Given the description of an element on the screen output the (x, y) to click on. 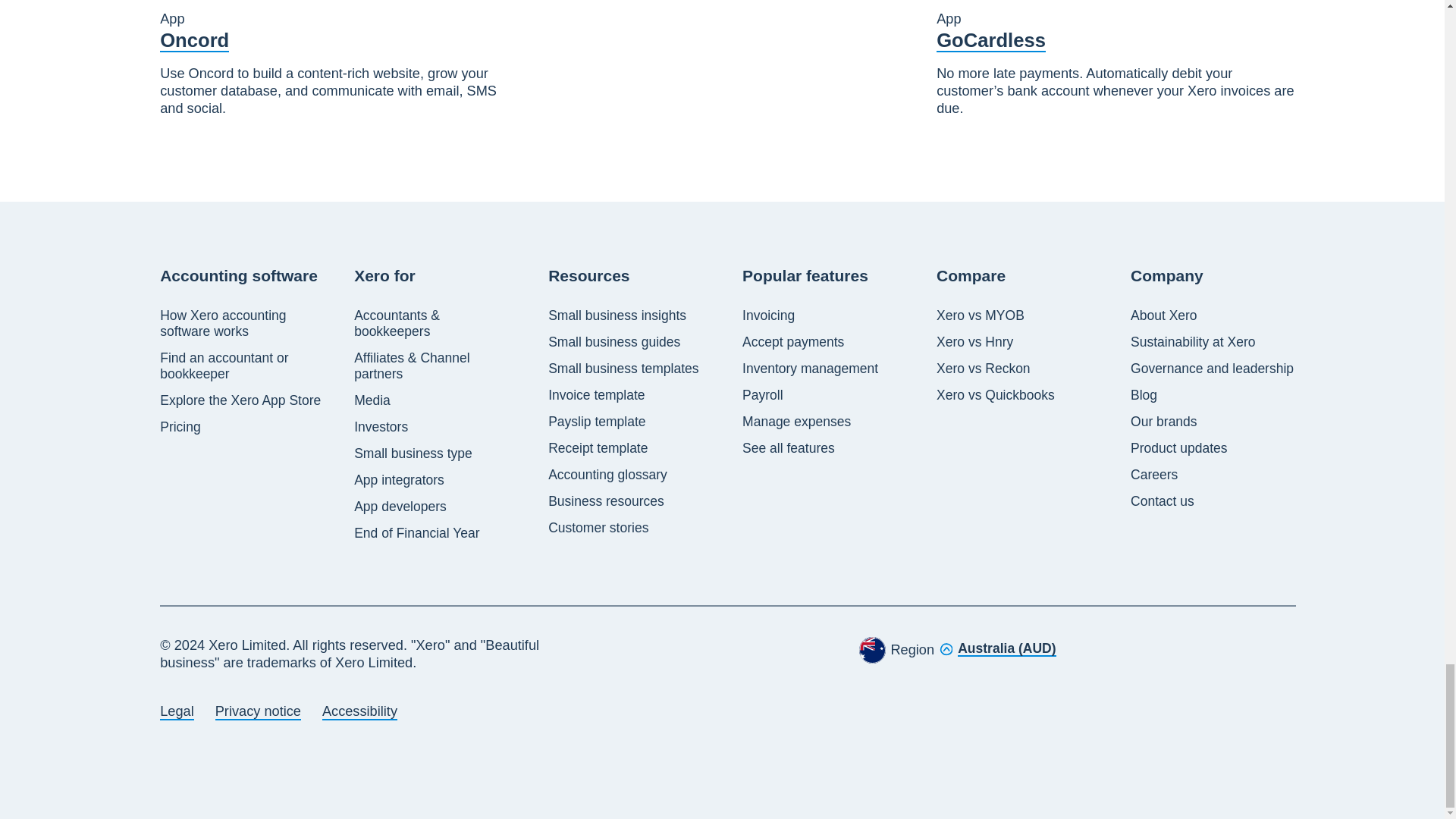
Small business templates (623, 368)
Payroll (762, 395)
See all features (788, 448)
Investors (380, 426)
Blog (1144, 395)
End of Financial Year (416, 533)
Sustainability at Xero (1193, 342)
Xero vs Quickbooks (995, 395)
App integrators (398, 480)
Governance and leadership (1212, 368)
App developers (399, 506)
Oncord (194, 40)
Inventory management (809, 368)
How Xero accounting software works (242, 323)
About Xero (1163, 315)
